Given the description of an element on the screen output the (x, y) to click on. 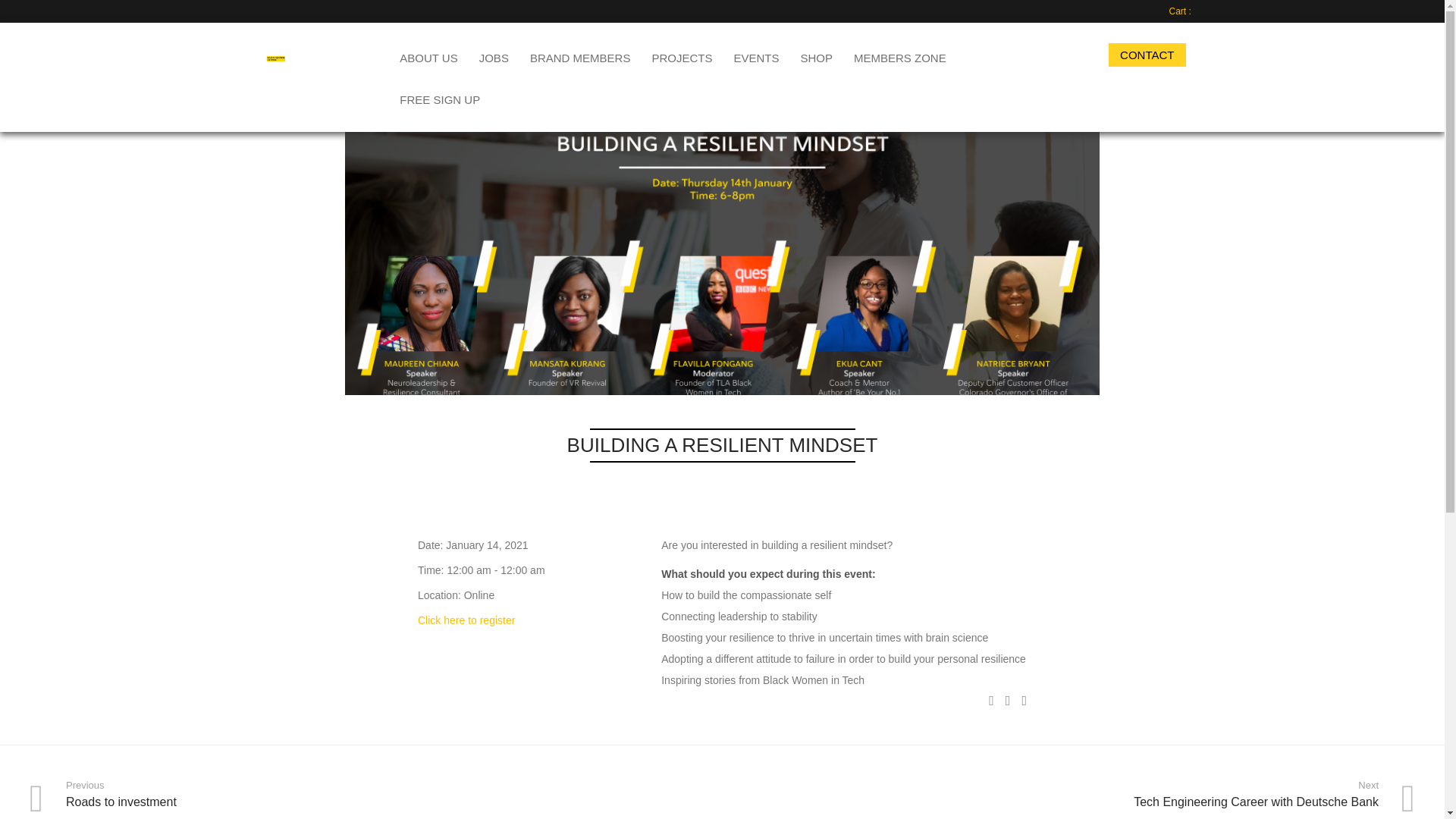
ABOUT US (427, 56)
Share on Twitter (1008, 700)
Share on Facebook (991, 700)
EVENTS (755, 56)
SHOP (816, 56)
Cart : (1181, 10)
PROJECTS (681, 56)
BRAND MEMBERS (580, 56)
Pin on Pinterest (1024, 700)
JOBS (493, 56)
MEMBERS ZONE (899, 56)
